Given the description of an element on the screen output the (x, y) to click on. 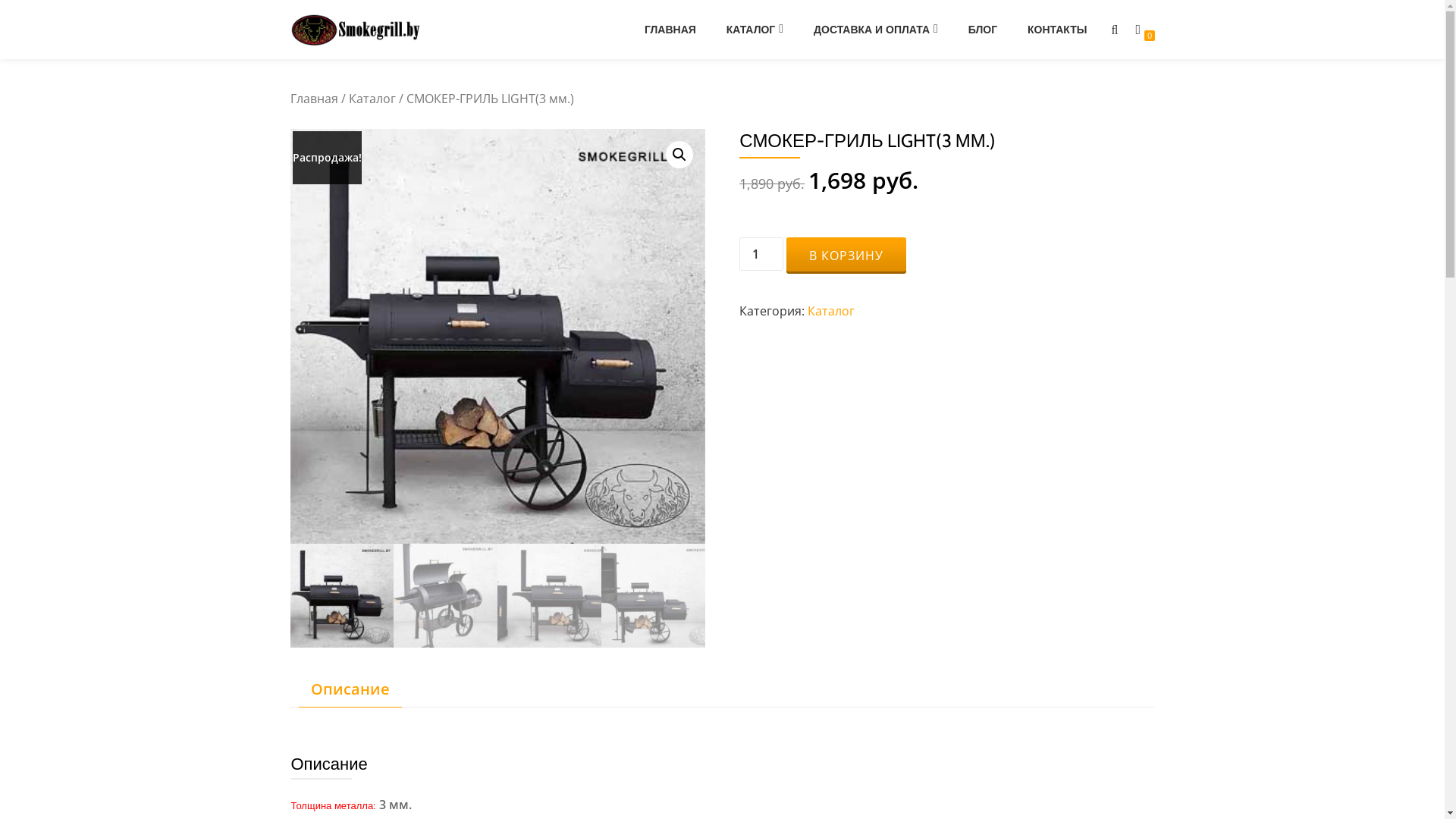
0 Element type: text (1138, 29)
5 Element type: hover (496, 335)
